Given the description of an element on the screen output the (x, y) to click on. 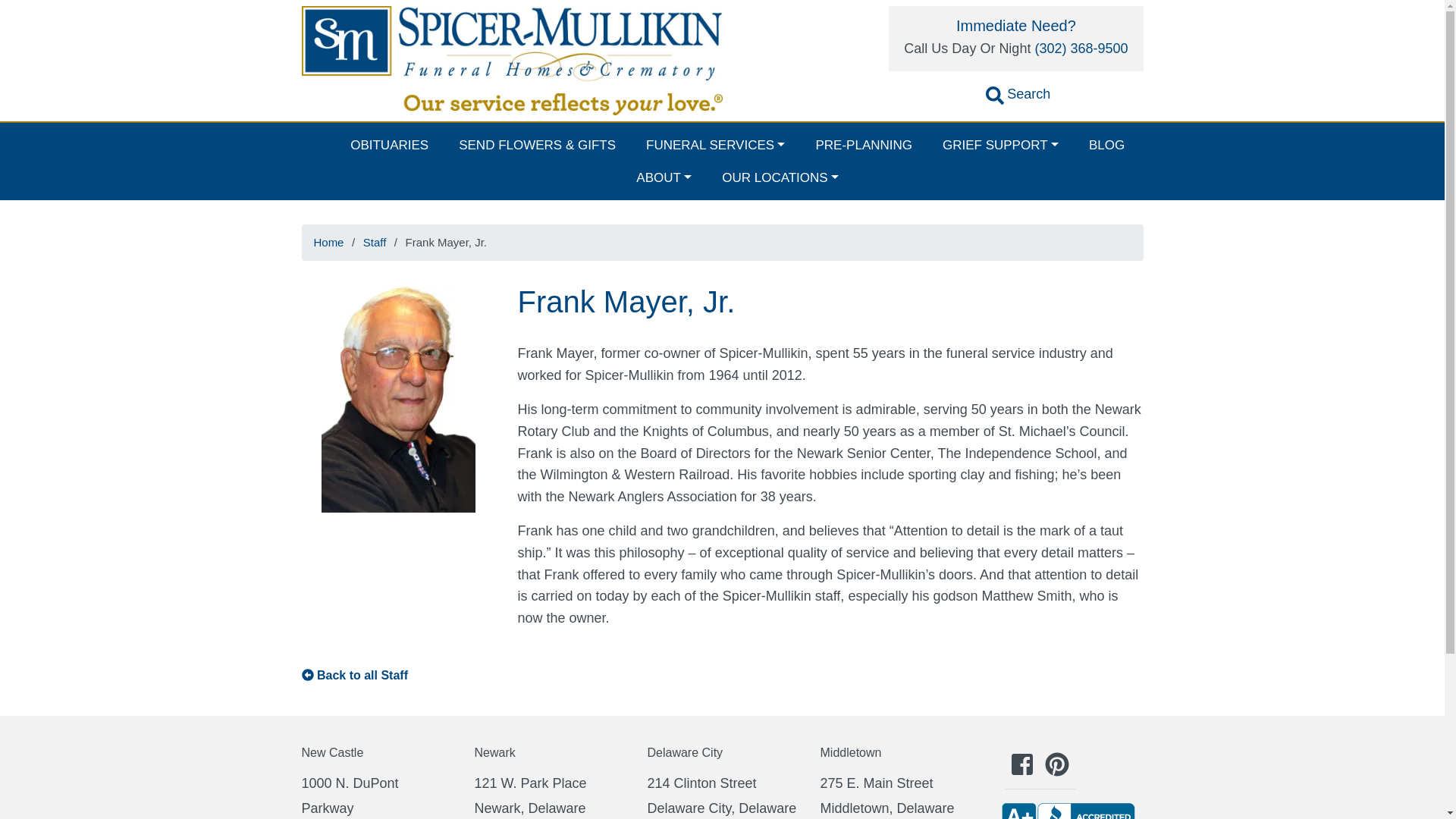
Staff (374, 241)
Home (328, 241)
OUR LOCATIONS (779, 177)
BLOG (1107, 144)
Back to all Staff (362, 675)
PRE-PLANNING (863, 144)
Search (1017, 97)
GRIEF SUPPORT (1000, 144)
OBITUARIES (389, 144)
Search this Site (1017, 97)
ABOUT (663, 177)
FUNERAL SERVICES (714, 144)
